Given the description of an element on the screen output the (x, y) to click on. 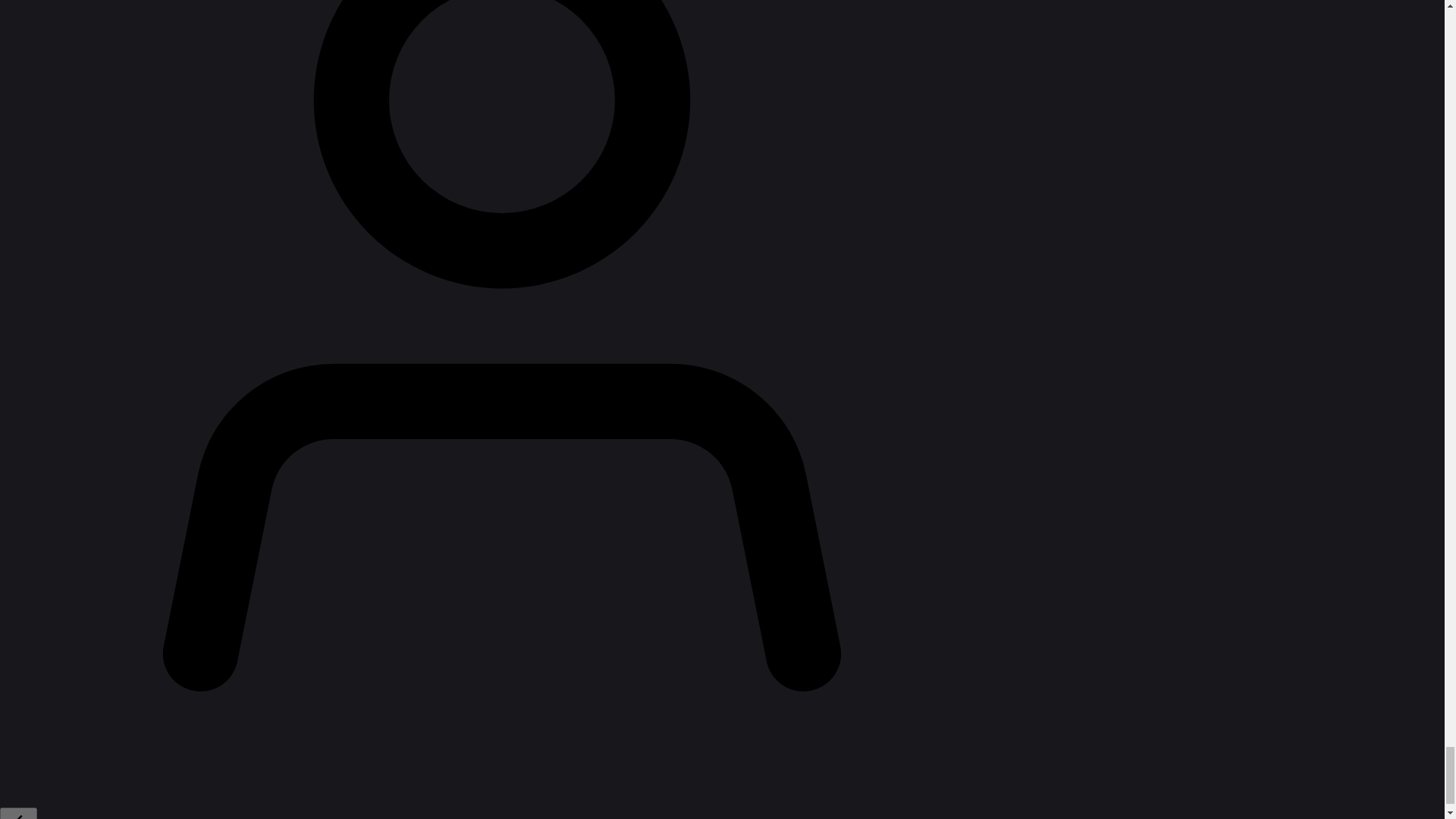
this topic has been viewed 579 times (1306, 59)
